Given the description of an element on the screen output the (x, y) to click on. 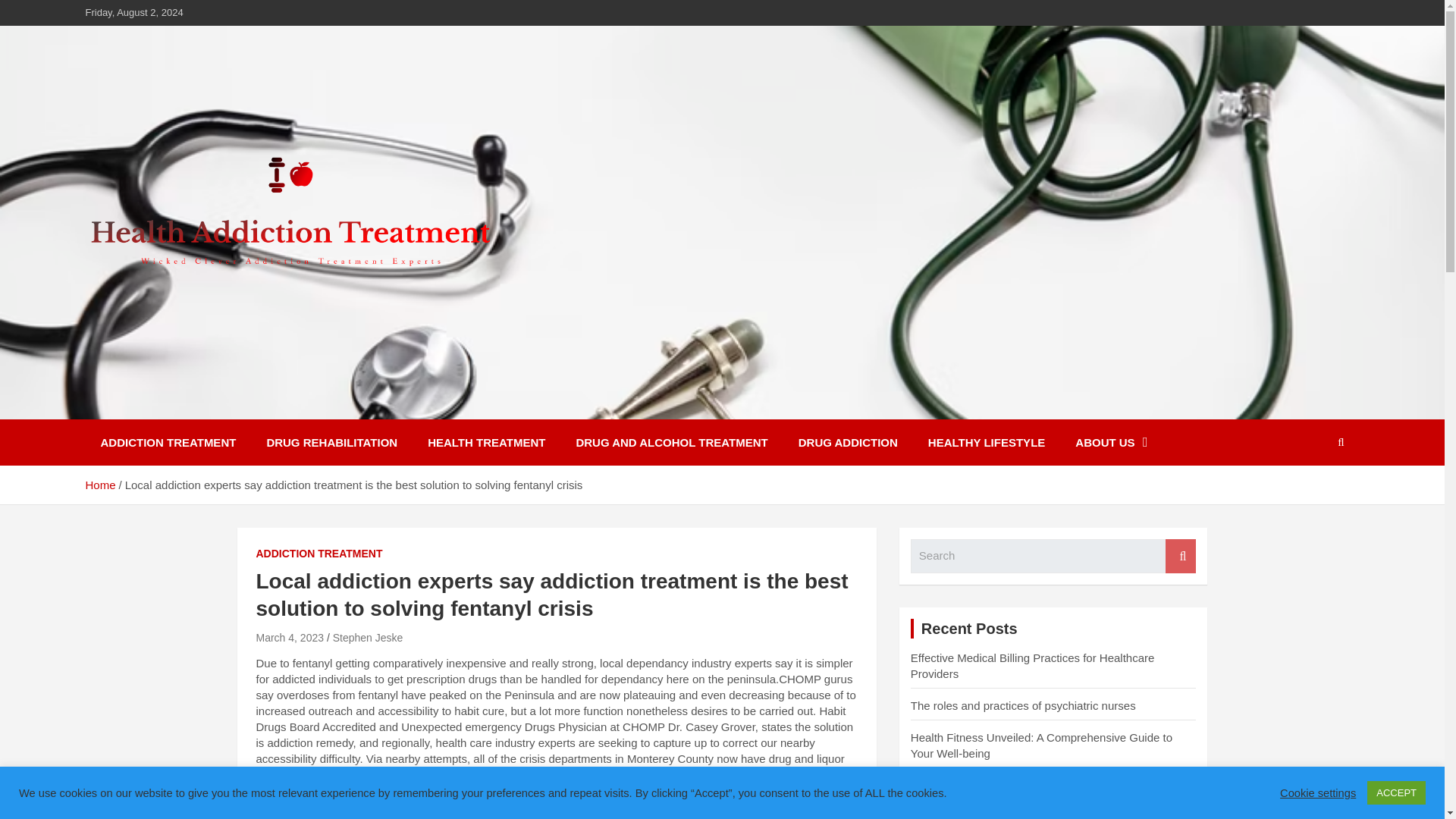
HEALTHY LIFESTYLE (985, 442)
ABOUT US (1110, 442)
DRUG AND ALCOHOL TREATMENT (671, 442)
March 4, 2023 (290, 637)
Effective Medical Billing Practices for Healthcare Providers (1032, 665)
Home (99, 484)
Health Addiction Treatment (281, 408)
ADDICTION TREATMENT (319, 554)
